Given the description of an element on the screen output the (x, y) to click on. 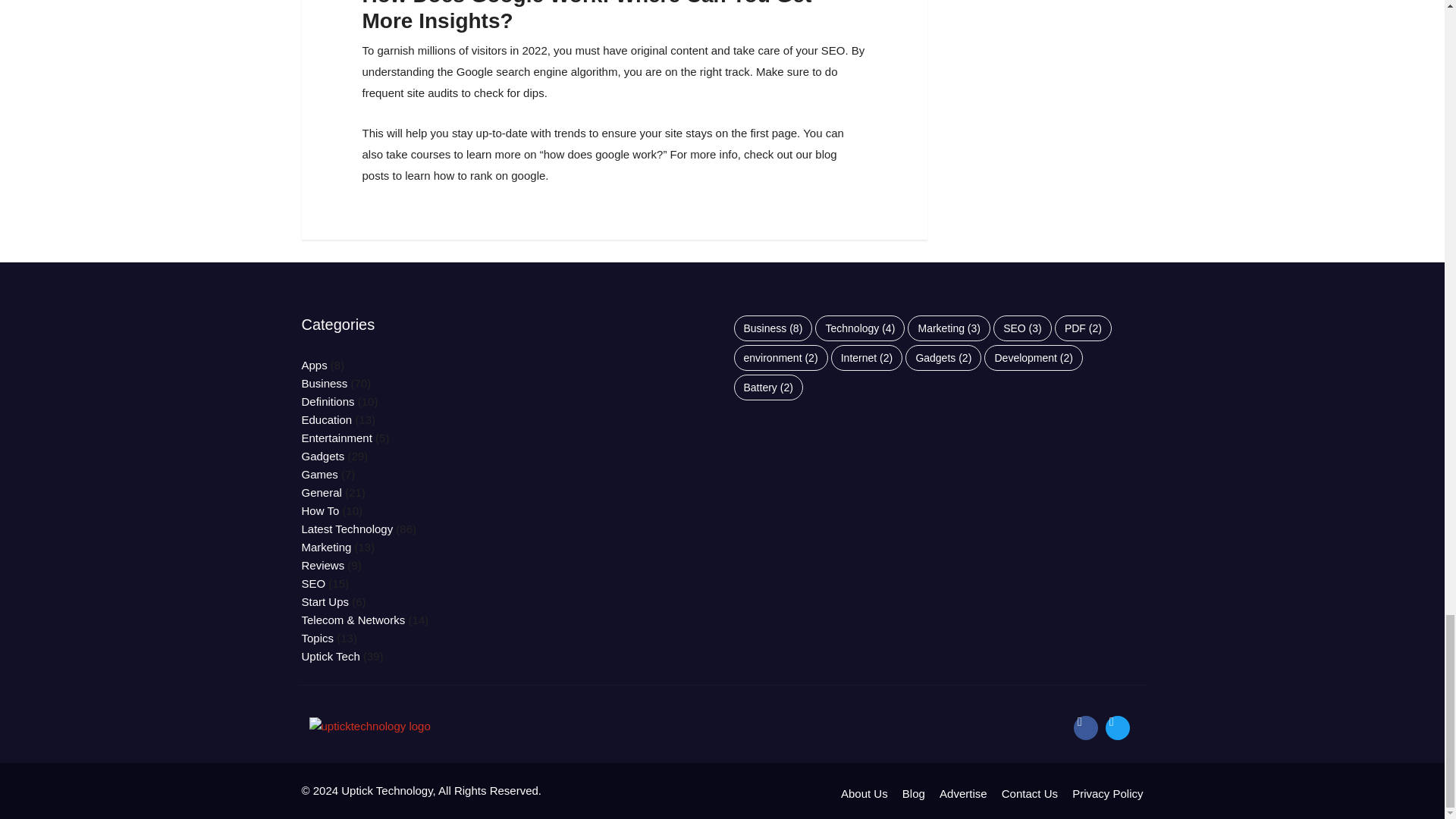
logon-light (369, 726)
